Given the description of an element on the screen output the (x, y) to click on. 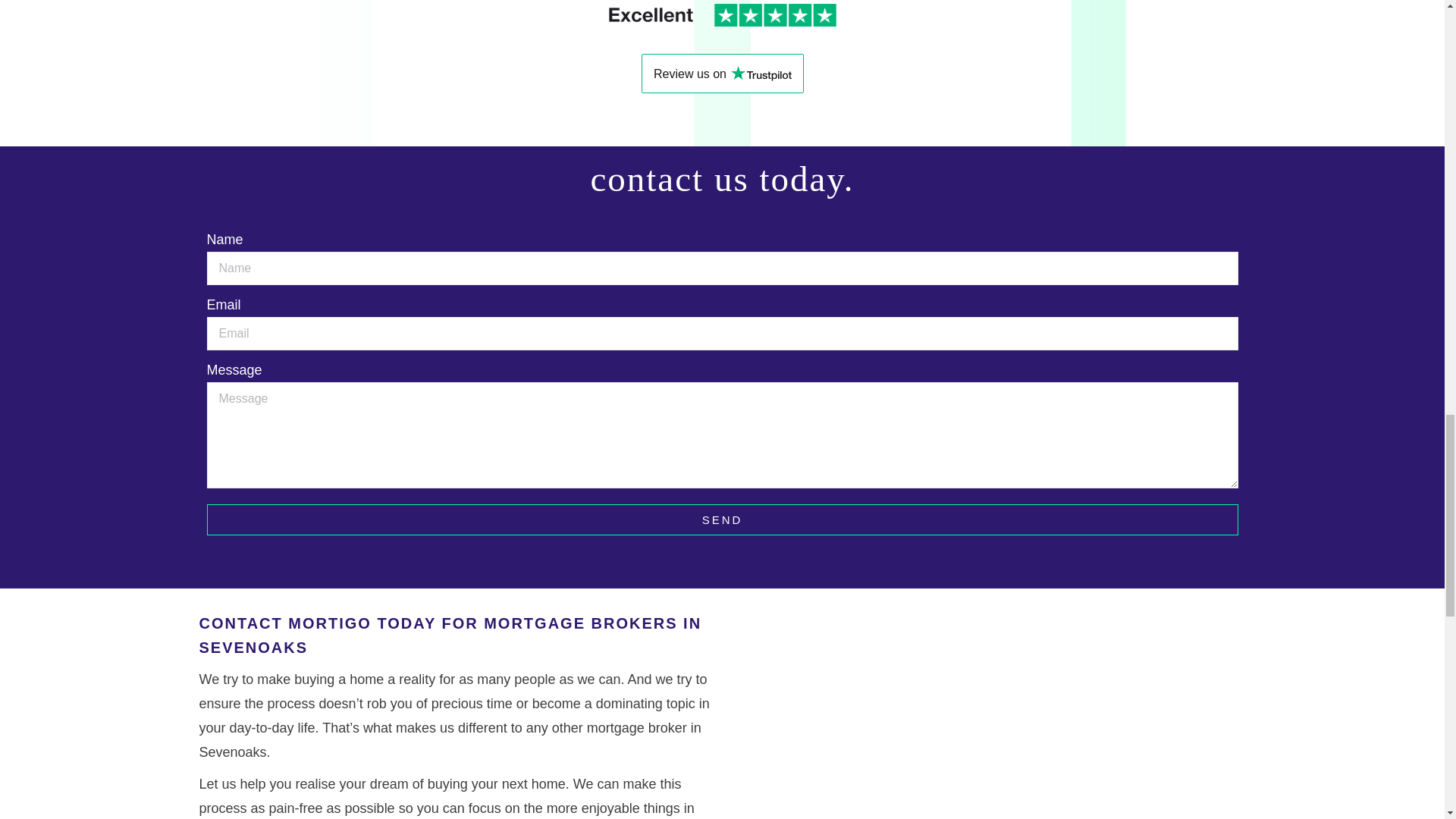
Customer reviews powered by Trustpilot (721, 73)
